Given the description of an element on the screen output the (x, y) to click on. 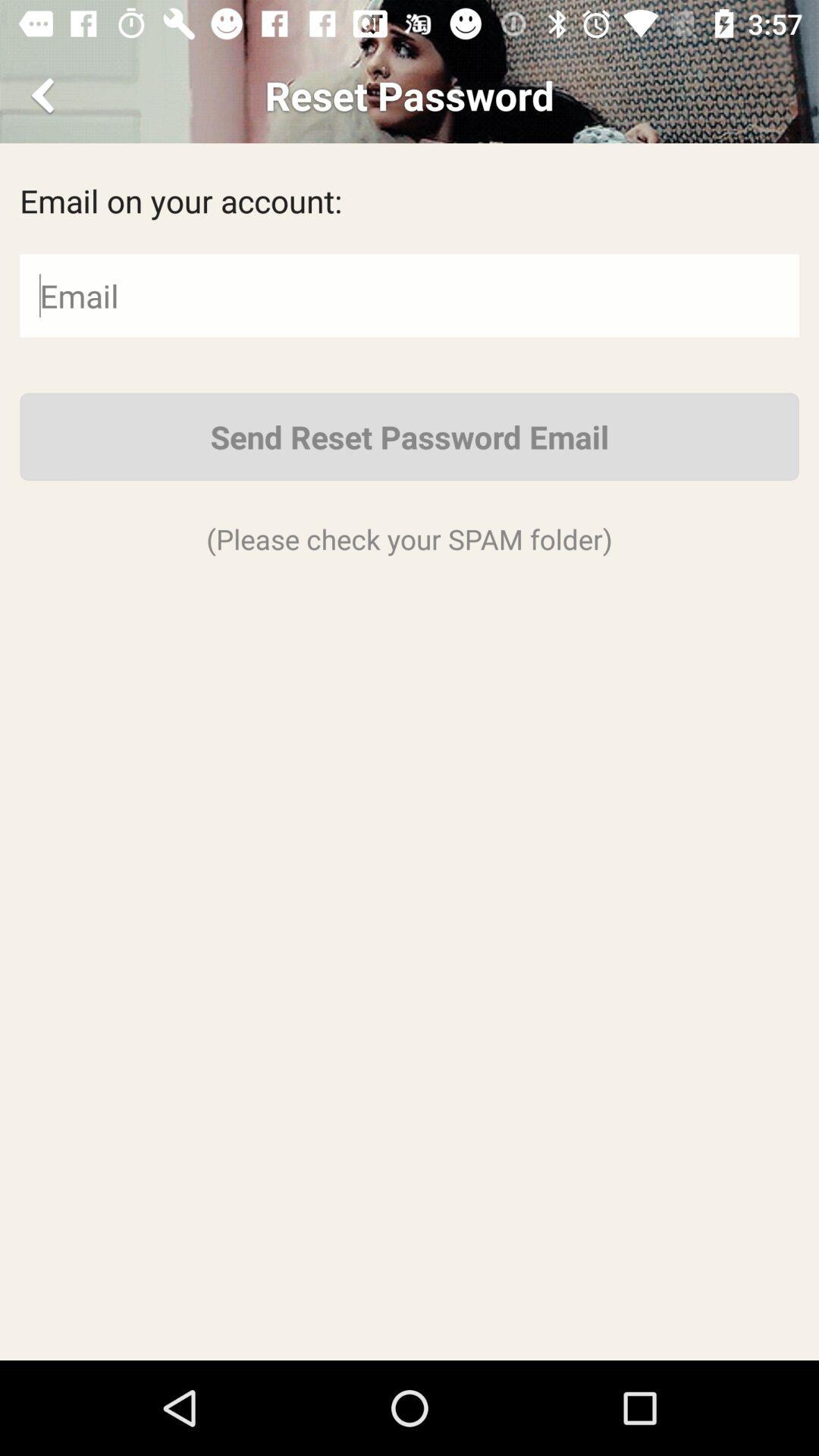
back (45, 95)
